Given the description of an element on the screen output the (x, y) to click on. 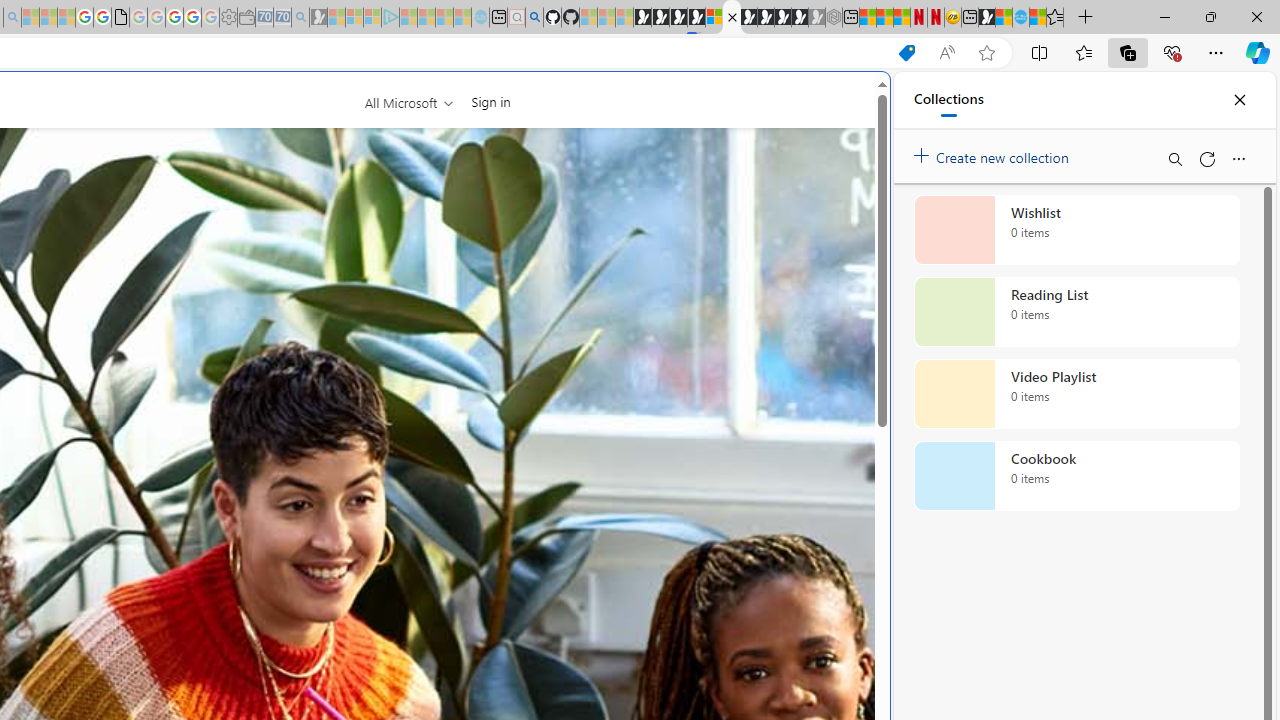
Search or enter web address (343, 191)
github - Search (534, 17)
